Given the description of an element on the screen output the (x, y) to click on. 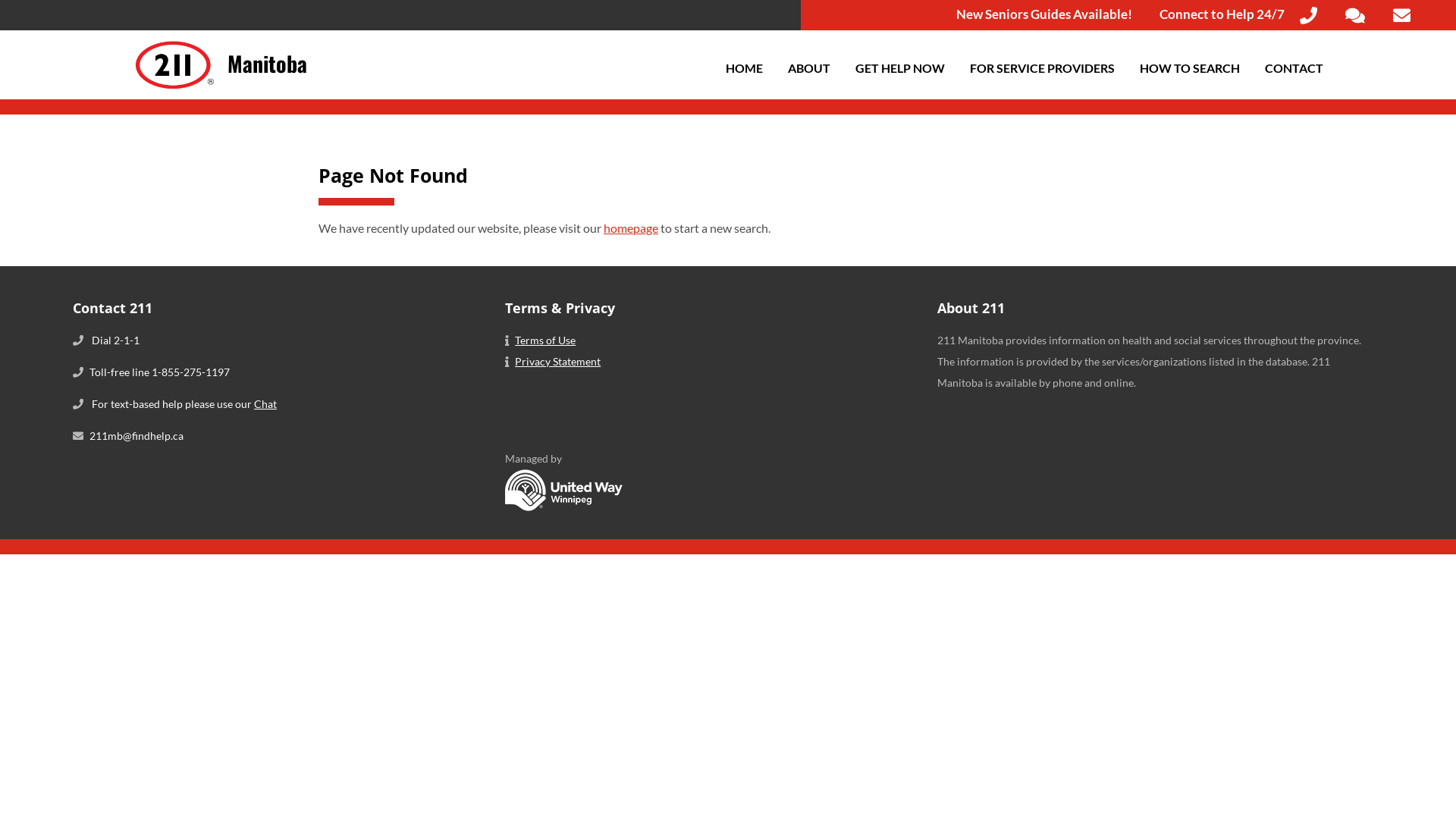
Privacy Statement Element type: text (557, 360)
Chat Element type: text (265, 403)
homepage Element type: text (630, 227)
New Seniors Guides Available! Element type: text (1043, 13)
GET HELP NOW Element type: text (899, 67)
CONTACT Element type: text (1293, 67)
Chat with 211 Element type: hover (1354, 15)
ABOUT Element type: text (808, 67)
HOW TO SEARCH Element type: text (1189, 67)
Toll-free line 1-855-275-1197 Element type: text (159, 371)
Dial 2-1-1 Element type: text (115, 339)
Terms of Use Element type: text (544, 339)
For text-based help please use our Element type: text (172, 403)
FOR SERVICE PROVIDERS Element type: text (1041, 67)
211mb@findhelp.ca Element type: text (136, 435)
211 Page Not Found  | Manitoba Element type: hover (174, 93)
Email Element type: hover (1401, 15)
Dial 211 Element type: hover (1308, 15)
HOME Element type: text (743, 67)
United Way Winnipeg Element type: text (563, 506)
